Given the description of an element on the screen output the (x, y) to click on. 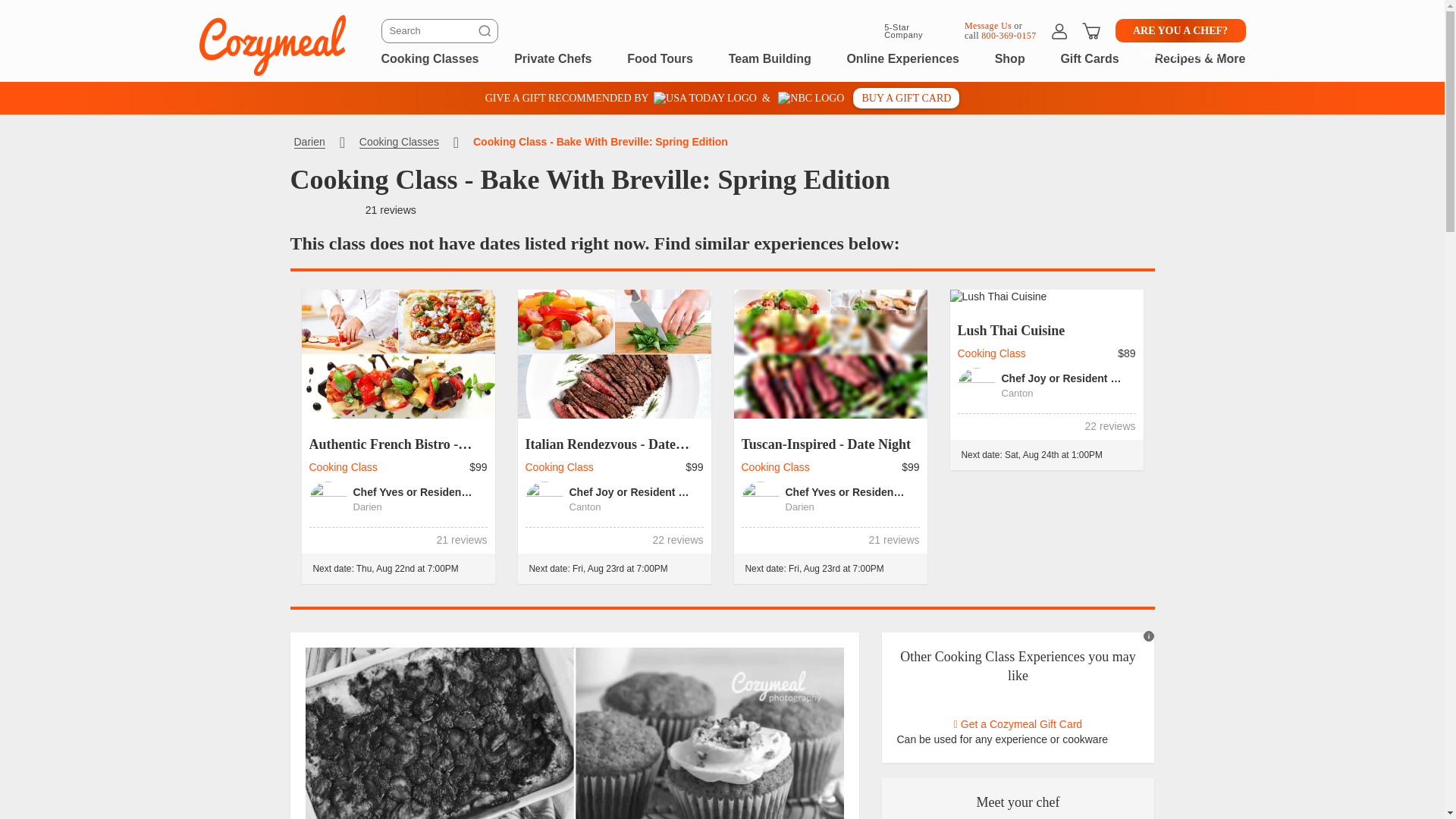
Cooking Classes (429, 58)
800-369-0157 (1008, 35)
Message Us (987, 24)
21 reviews (390, 209)
